Given the description of an element on the screen output the (x, y) to click on. 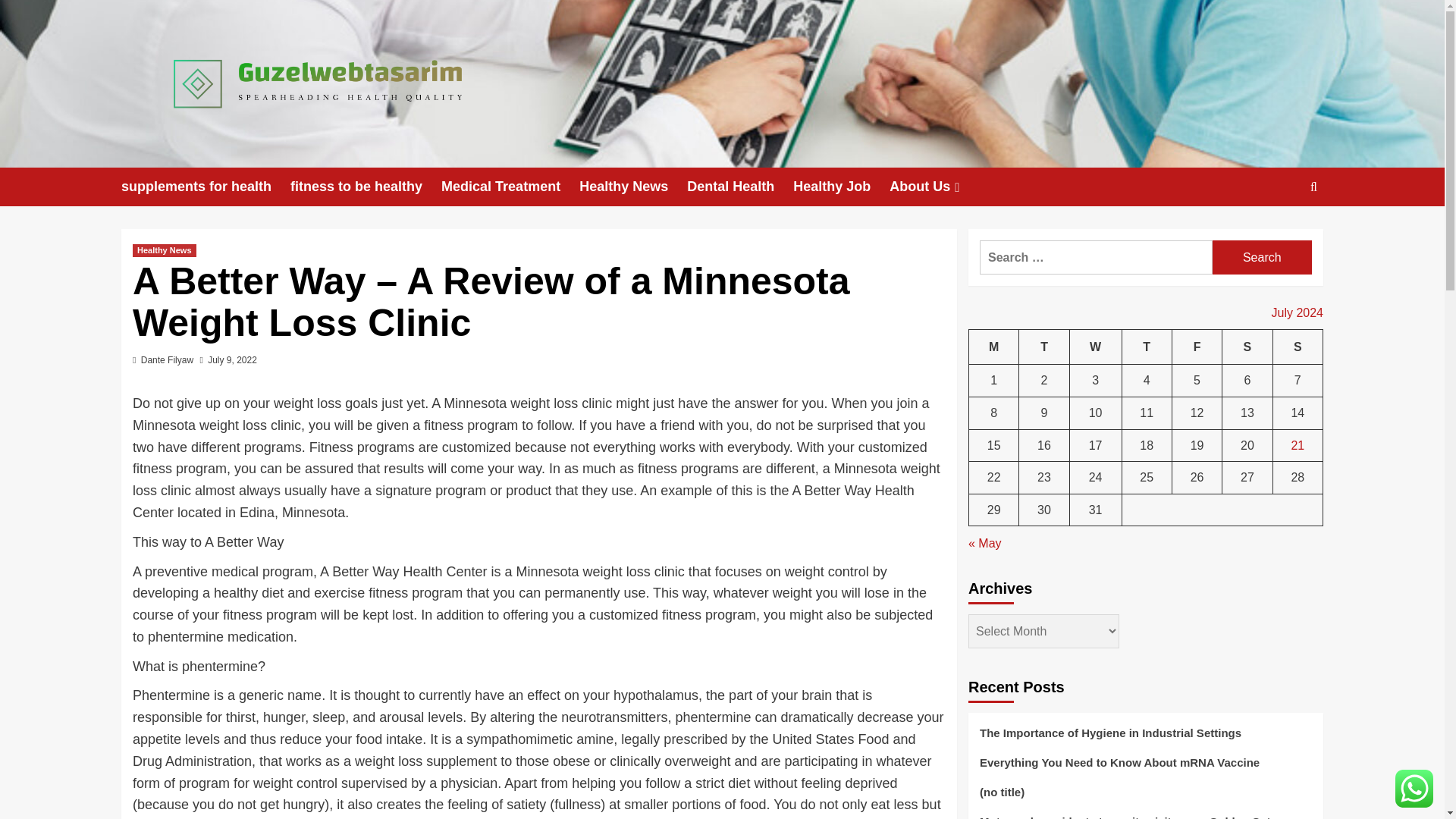
Dental Health (740, 186)
Wednesday (1094, 346)
Healthy Job (841, 186)
Healthy News (164, 250)
Search (1261, 257)
supplements for health (204, 186)
Medical Treatment (510, 186)
Search (1261, 257)
Thursday (1146, 346)
Healthy News (633, 186)
Friday (1196, 346)
Tuesday (1043, 346)
About Us (935, 186)
July 9, 2022 (232, 359)
Dante Filyaw (167, 359)
